Given the description of an element on the screen output the (x, y) to click on. 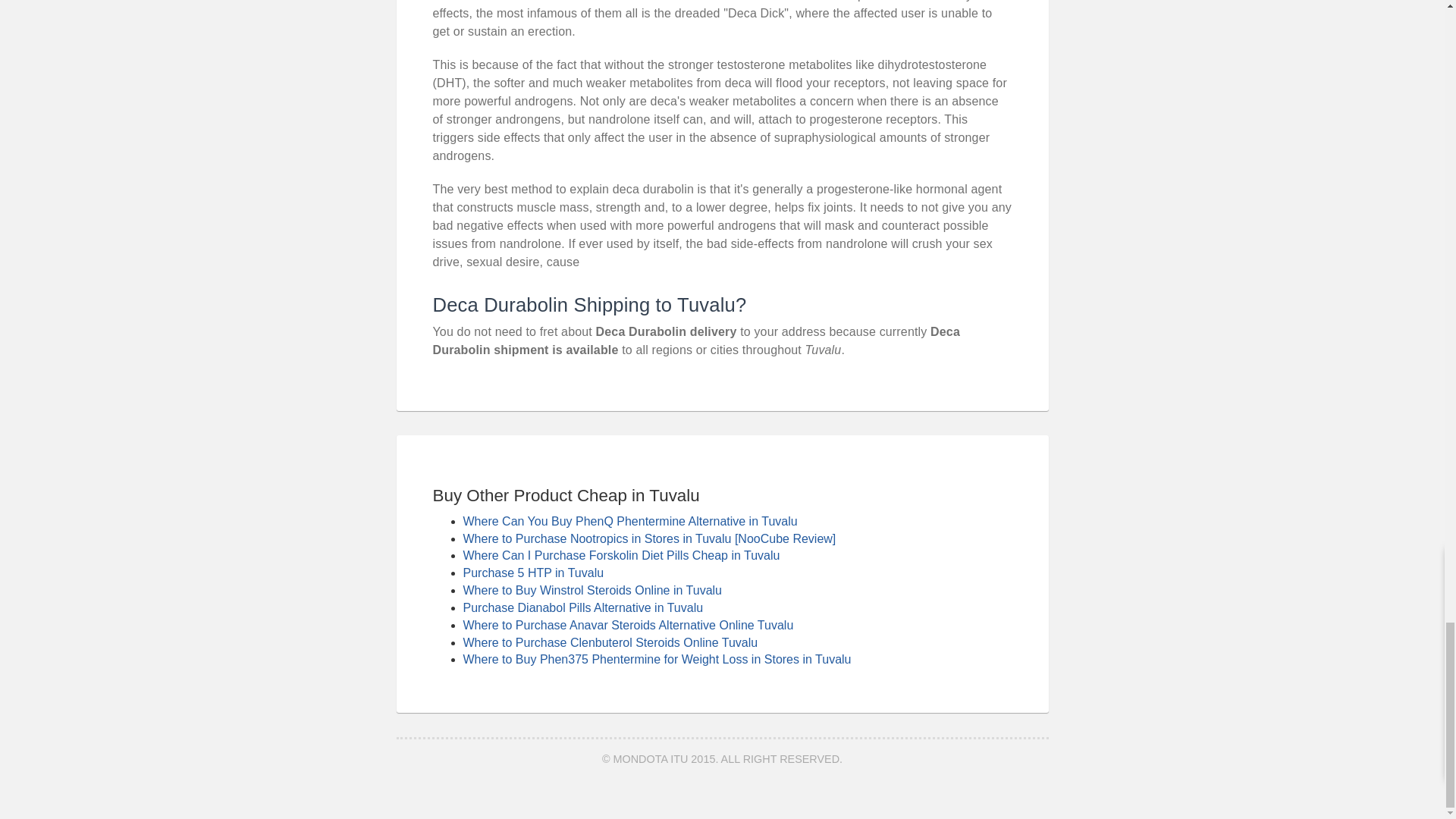
Where to Purchase Clenbuterol Steroids Online Tuvalu (610, 642)
Purchase Dianabol Pills Alternative in Tuvalu (583, 607)
Purchase 5 HTP in Tuvalu (533, 572)
Purchase 5 HTP in Tuvalu (533, 572)
Where to Buy Winstrol Steroids Online in Tuvalu (591, 590)
Where to Purchase Clenbuterol Steroids Online Tuvalu (610, 642)
Purchase Dianabol Pills Alternative in Tuvalu (583, 607)
Where to Buy Winstrol Steroids Online in Tuvalu (591, 590)
Where to Purchase Anavar Steroids Alternative Online Tuvalu (628, 625)
